Given the description of an element on the screen output the (x, y) to click on. 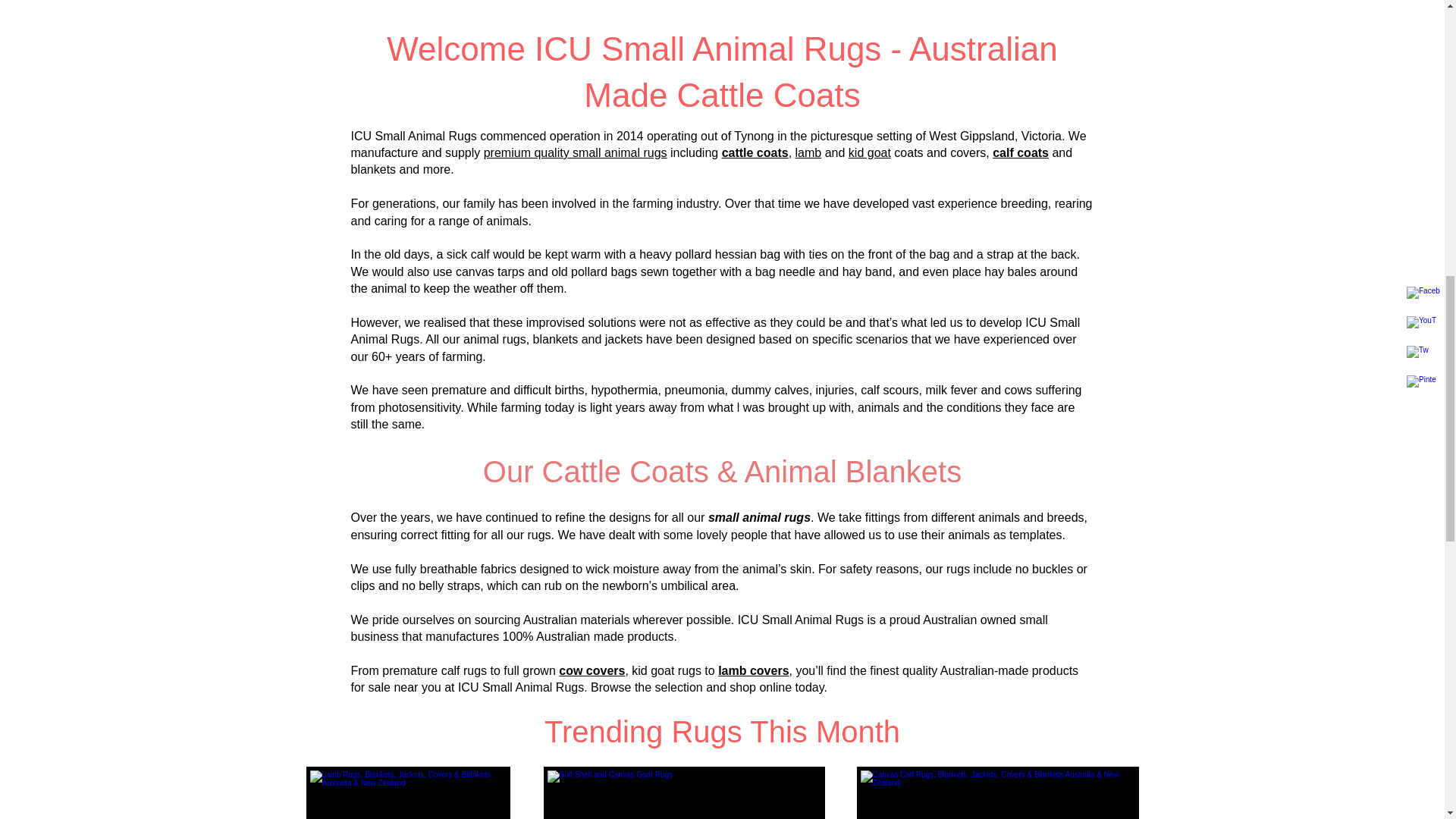
kid goat (869, 152)
Soft Shell and Canvas Goat Rugs (683, 792)
lamb (808, 152)
calf coats (1020, 152)
premium quality small animal rugs (574, 152)
cattle coats (755, 152)
